Given the description of an element on the screen output the (x, y) to click on. 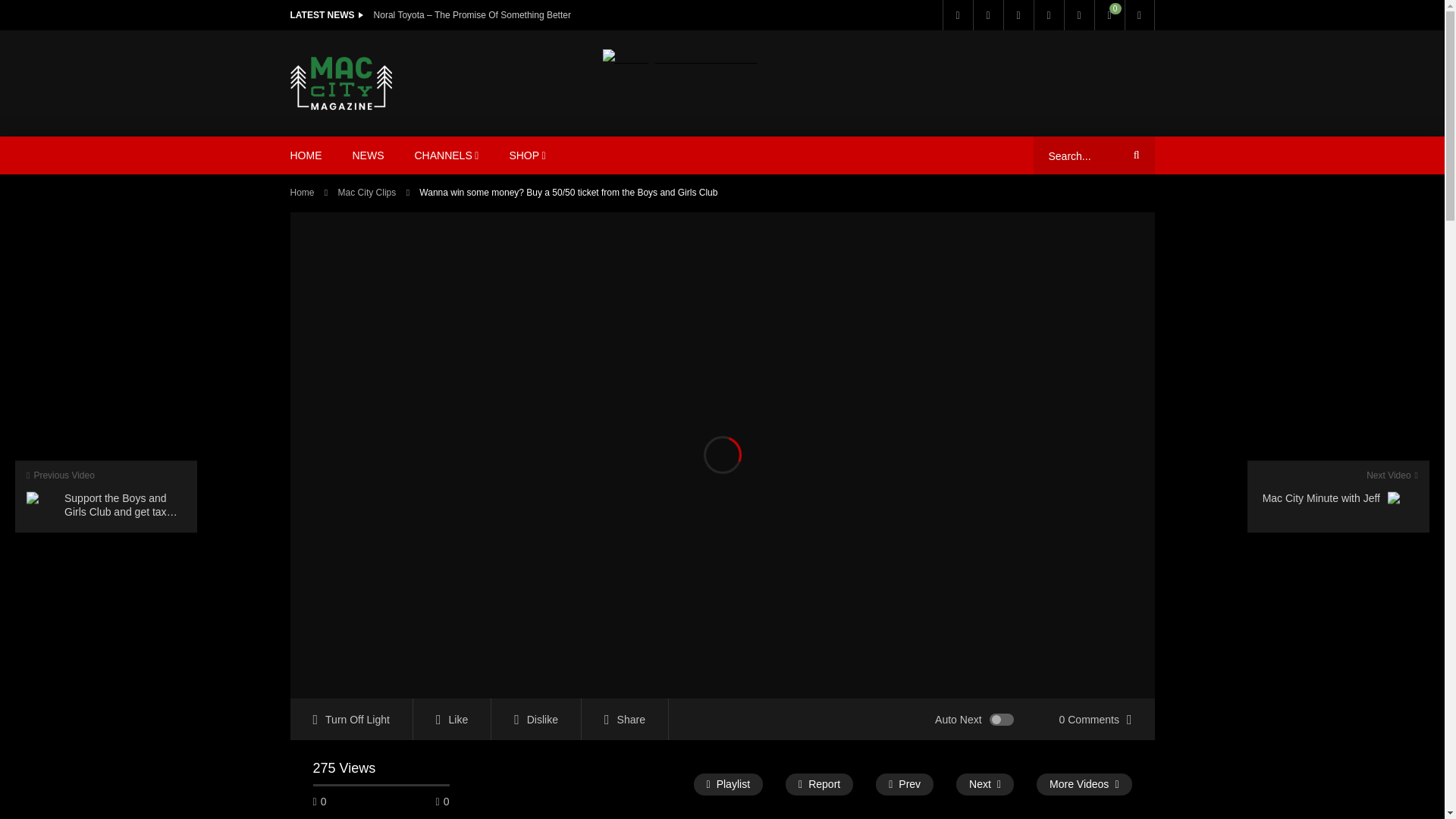
Login (1139, 15)
0 Comments (1095, 719)
Facebook (957, 15)
CHANNELS (445, 155)
Twitter (987, 15)
Search (1133, 155)
MAC CITY Magazine (340, 82)
NEWS (367, 155)
HOME (305, 155)
View your shopping cart (1108, 15)
SHOP (526, 155)
LinkedIn (1017, 15)
0 (1108, 15)
Instagram (1077, 15)
